Given the description of an element on the screen output the (x, y) to click on. 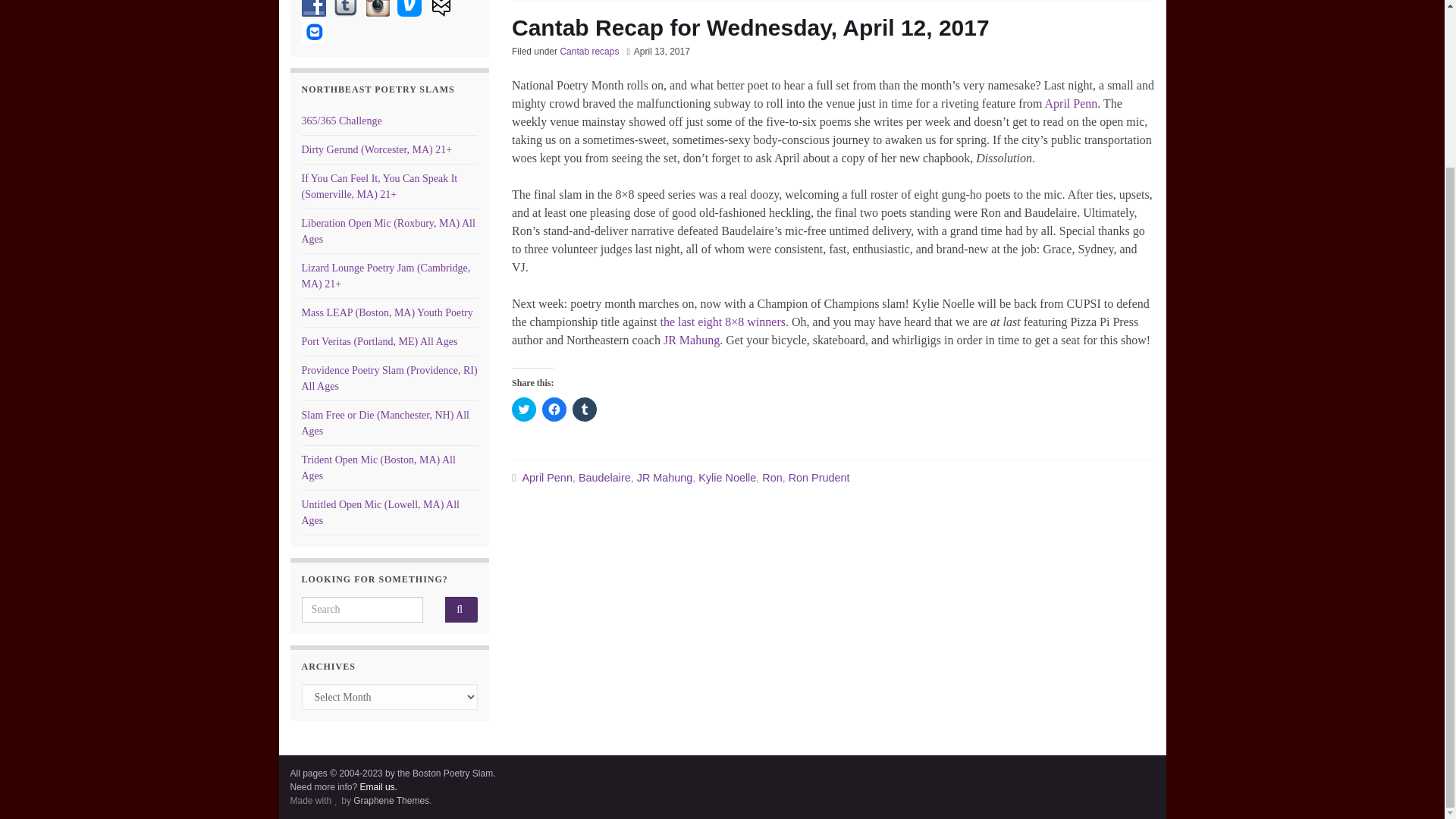
 Current Newsletter! (313, 30)
 Tumblr (345, 8)
The daily writing blog run by the Cantab Open Mic community. (341, 120)
2017-04-13T14:23:20-04:00 (661, 50)
Click to share on Tumblr (584, 409)
 Old Newsletter! (440, 8)
 Instagram (377, 8)
Click to share on Facebook (553, 409)
 Facebook (313, 8)
 Venmo (409, 8)
Click to share on Twitter (523, 409)
